Given the description of an element on the screen output the (x, y) to click on. 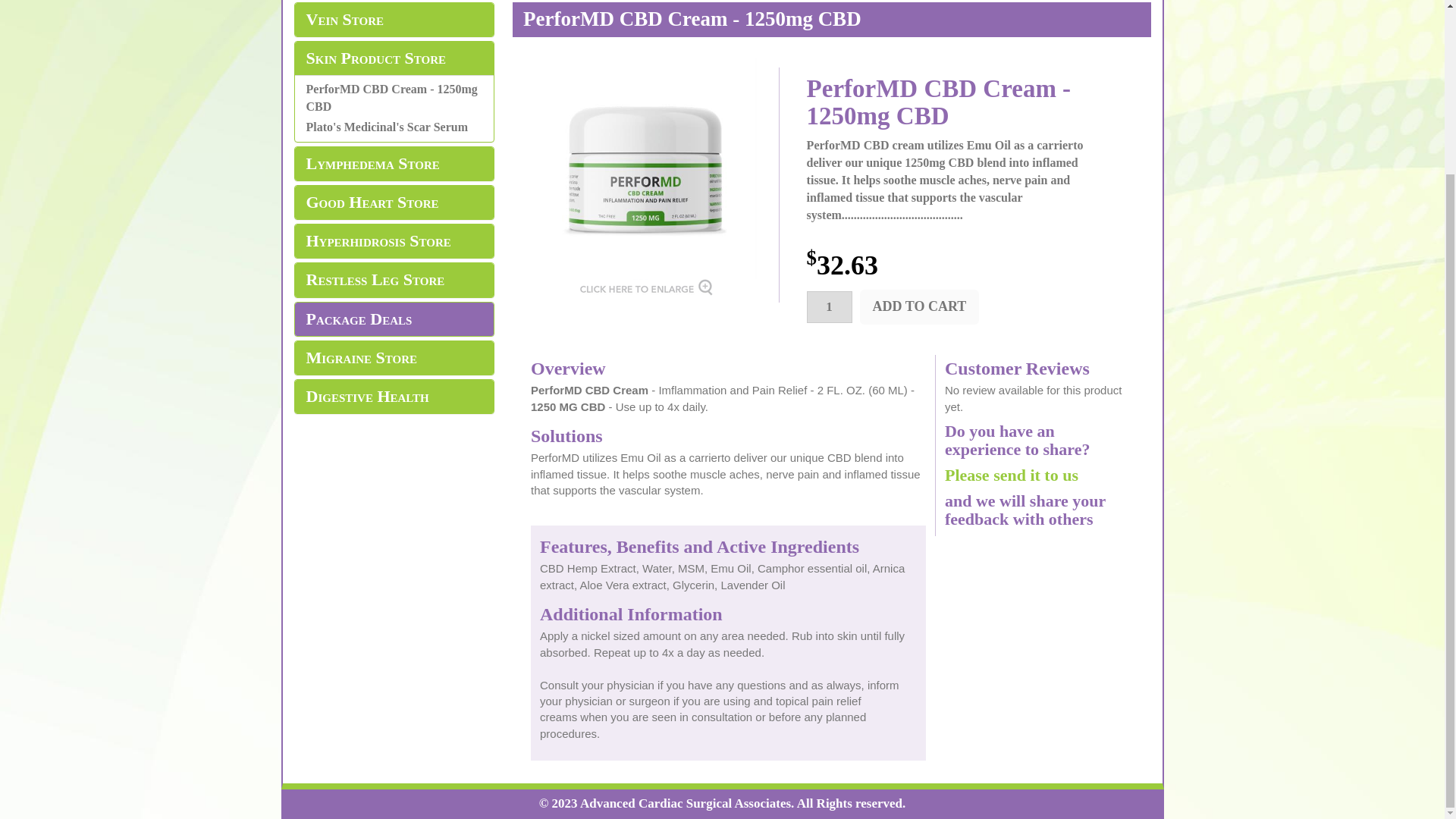
Migraine Store (394, 357)
Package Deals (394, 319)
Lymphedema Store (394, 163)
Good Heart Store (394, 202)
Skin Product Store (394, 58)
Plato's Medicinal's Scar Serum (386, 126)
Hyperhidrosis Store (394, 240)
Restless Leg Store (394, 280)
Vein Store (394, 19)
1 (828, 306)
PerforMD CBD Cream - 1250mg CBD (645, 226)
PerforMD CBD Cream - 1250mg CBD (391, 97)
